Given the description of an element on the screen output the (x, y) to click on. 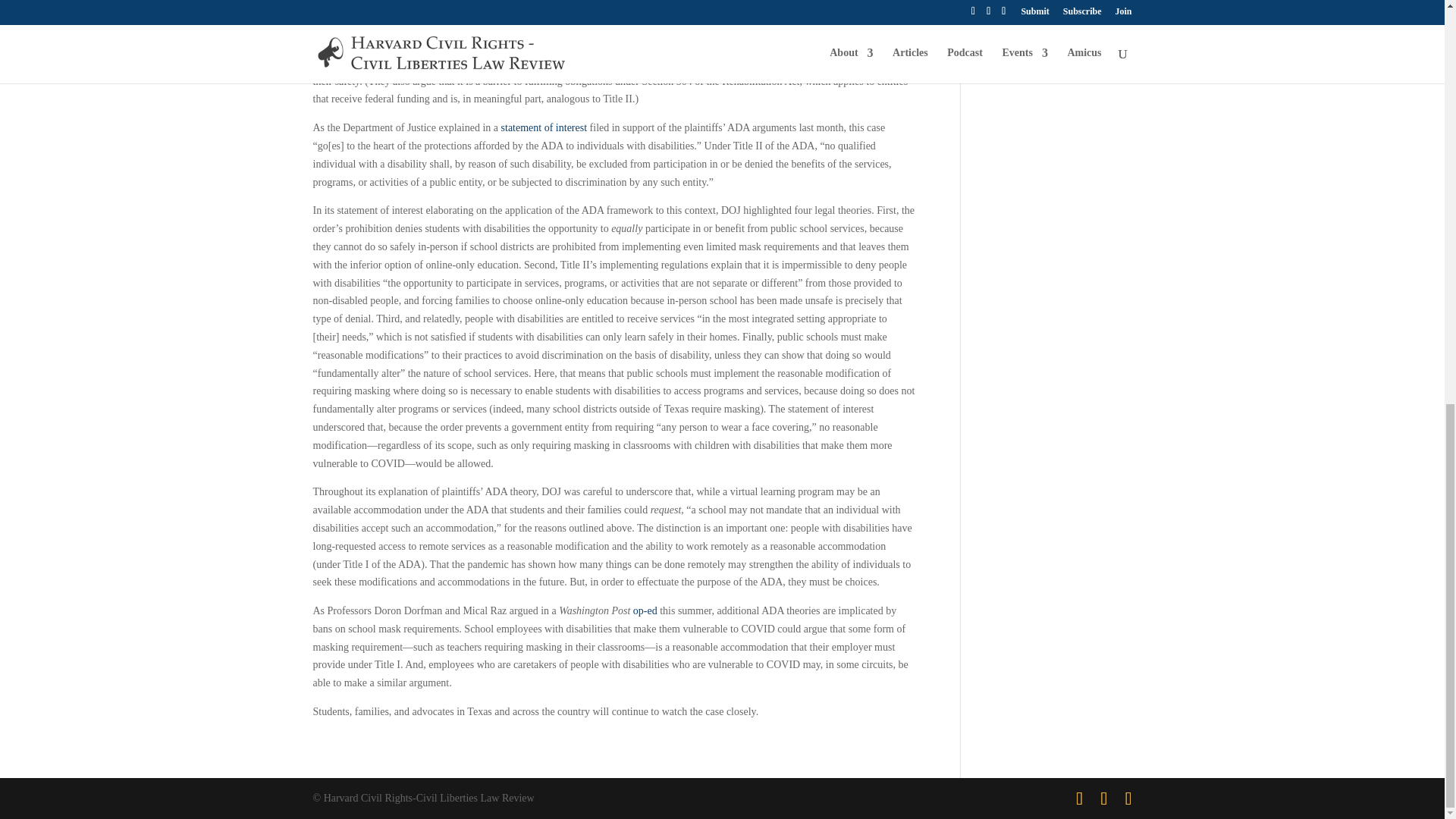
complaint (680, 26)
Executive Order GA-38 (410, 8)
op-ed (645, 610)
statement of interest (544, 127)
